Given the description of an element on the screen output the (x, y) to click on. 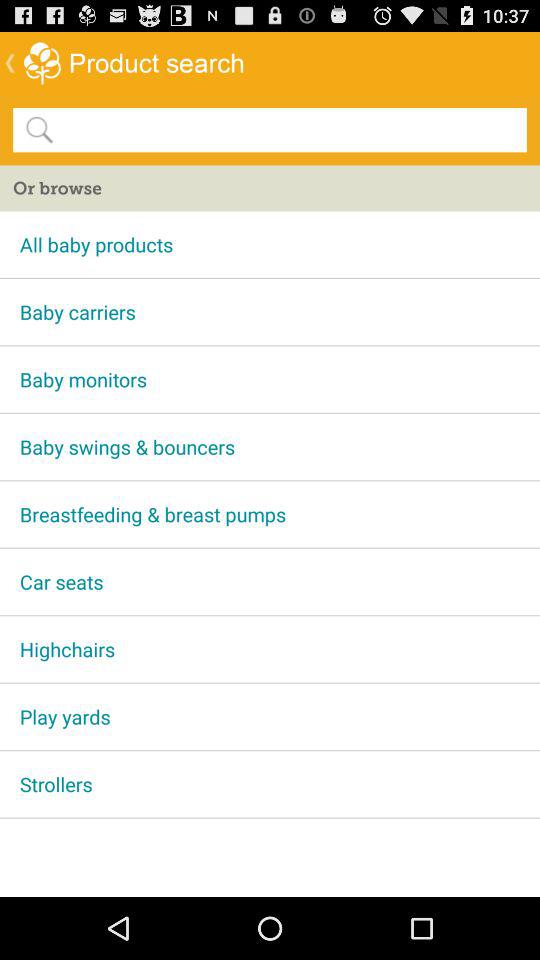
turn on app above baby carriers app (270, 244)
